Given the description of an element on the screen output the (x, y) to click on. 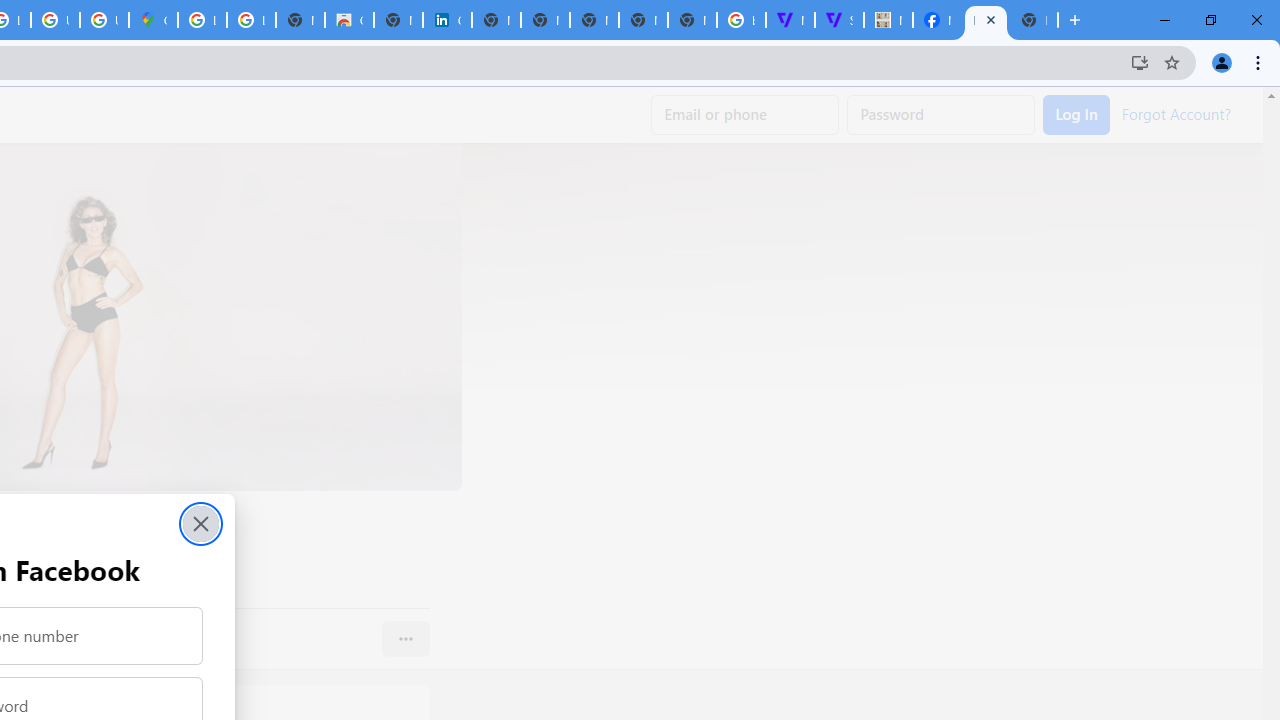
Cookie Policy | LinkedIn (447, 20)
Google Maps (153, 20)
Streaming - The Verge (839, 20)
Miley Cyrus | Facebook (985, 20)
Accessible login button (1076, 115)
Chrome Web Store (349, 20)
